Given the description of an element on the screen output the (x, y) to click on. 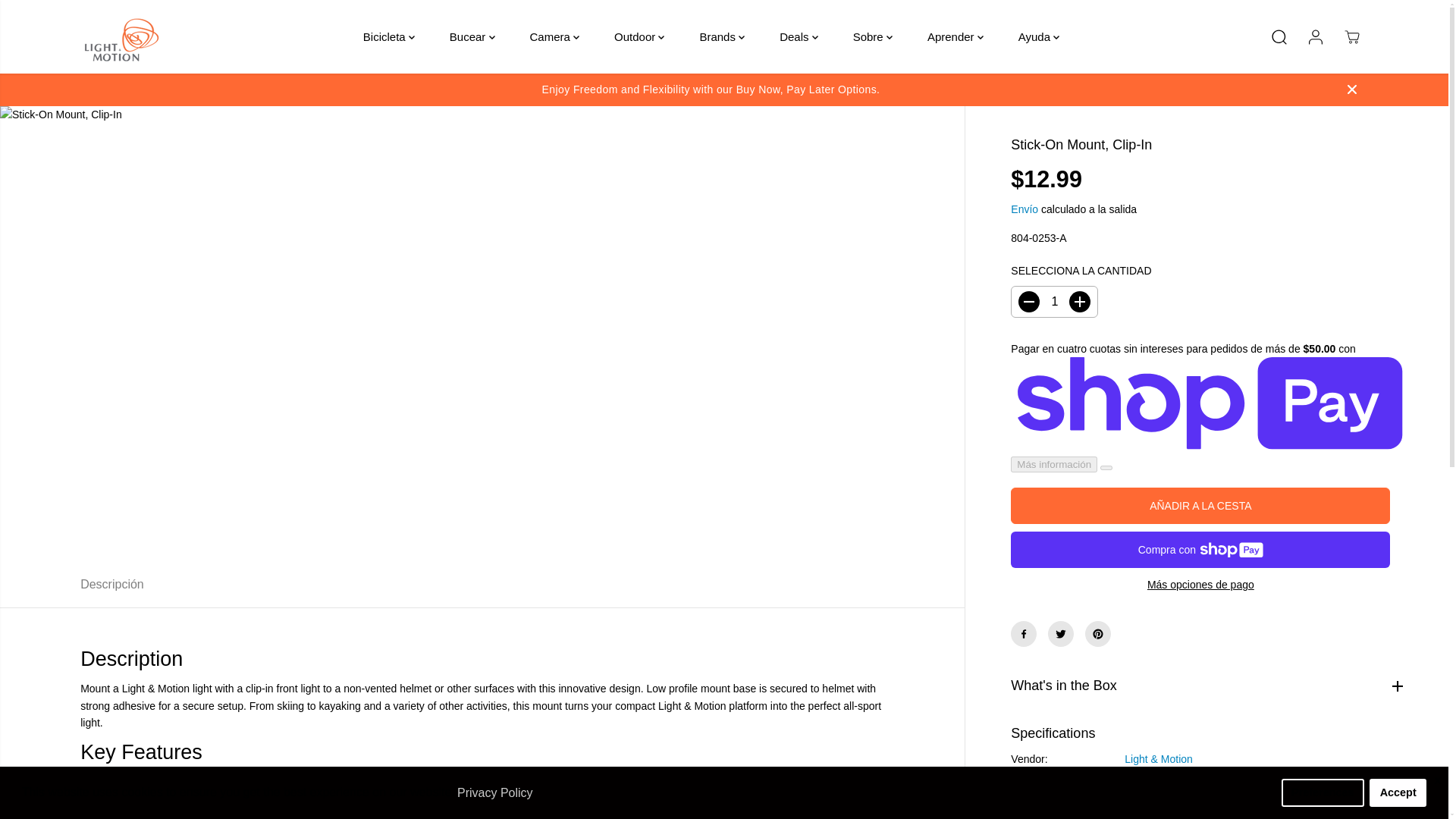
Carro (1351, 36)
Outdoor (639, 36)
Bicicleta (389, 36)
Facebook (1023, 633)
Gorjeo (1061, 633)
Camera (554, 36)
Acceso (1315, 36)
Pinterest (1097, 633)
Bike Accessory (1160, 783)
Buscar (1278, 36)
SALTAR AL CONTENIDO (60, 18)
1 (1053, 301)
Bucear (472, 36)
